Given the description of an element on the screen output the (x, y) to click on. 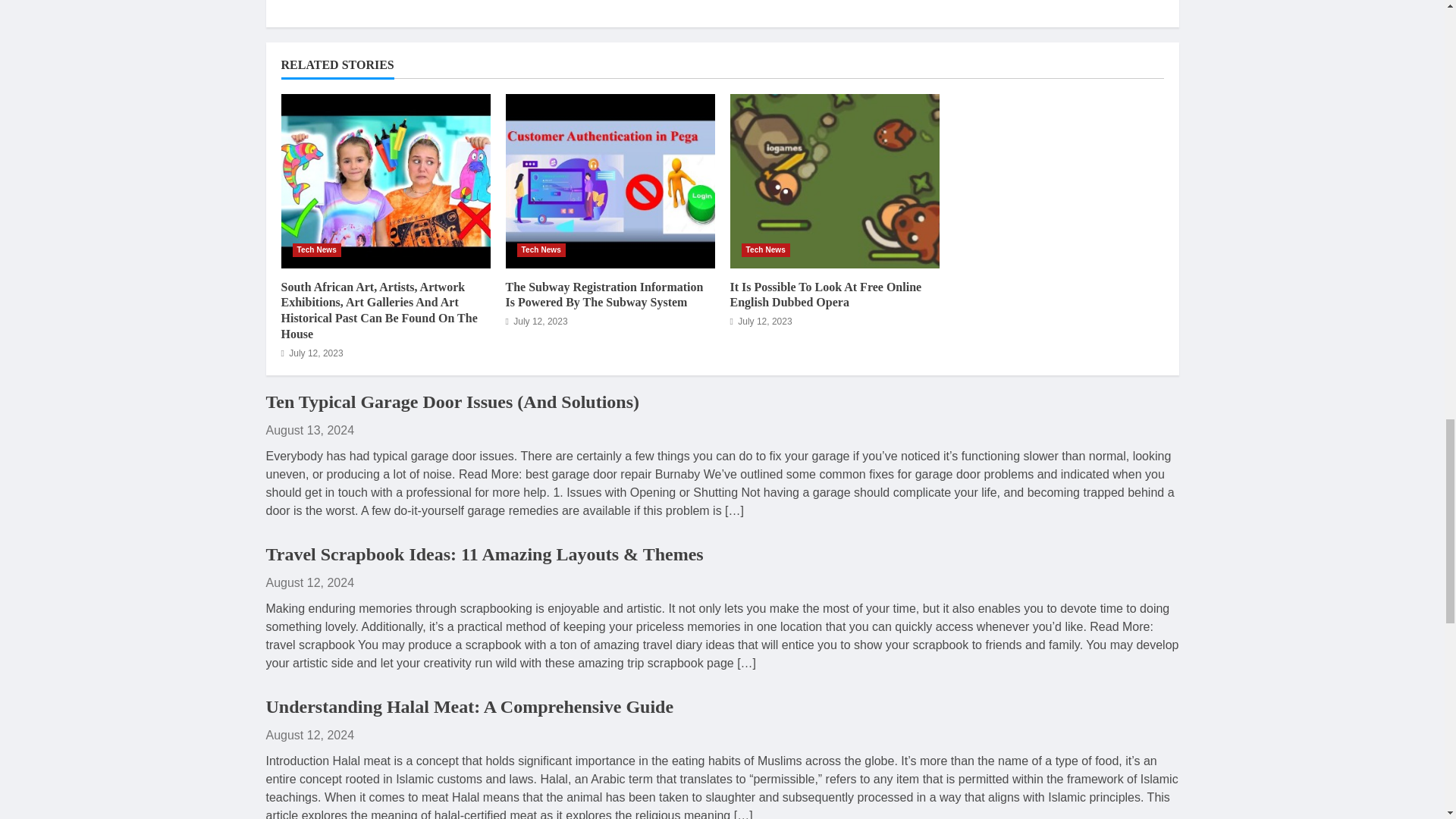
Tech News (316, 250)
It Is Possible To Look At Free Online English Dubbed Opera (834, 181)
It Is Possible To Look At Free Online English Dubbed Opera (825, 294)
Tech News (765, 250)
Tech News (541, 250)
Understanding Halal Meat: A Comprehensive Guide (468, 706)
